Given the description of an element on the screen output the (x, y) to click on. 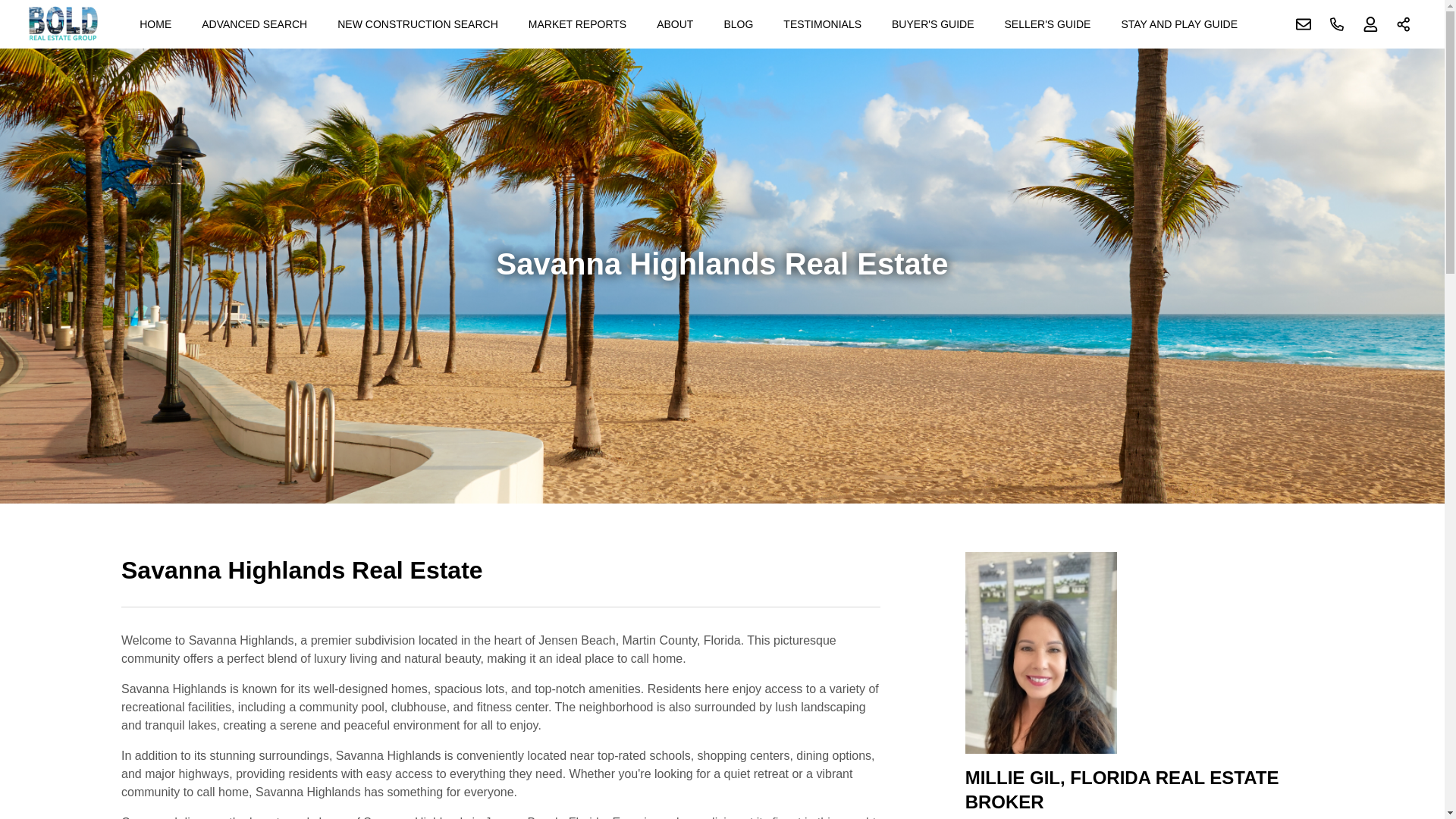
HOME (155, 24)
SELLER'S GUIDE (1046, 24)
STAY AND PLAY GUIDE (1179, 24)
ADVANCED SEARCH (253, 24)
Contact us (1303, 23)
Savanna Highlands Real Estate (500, 579)
NEW CONSTRUCTION SEARCH (417, 24)
Sign up or Sign in (1370, 23)
Share (1404, 23)
MARKET REPORTS (576, 24)
